Given the description of an element on the screen output the (x, y) to click on. 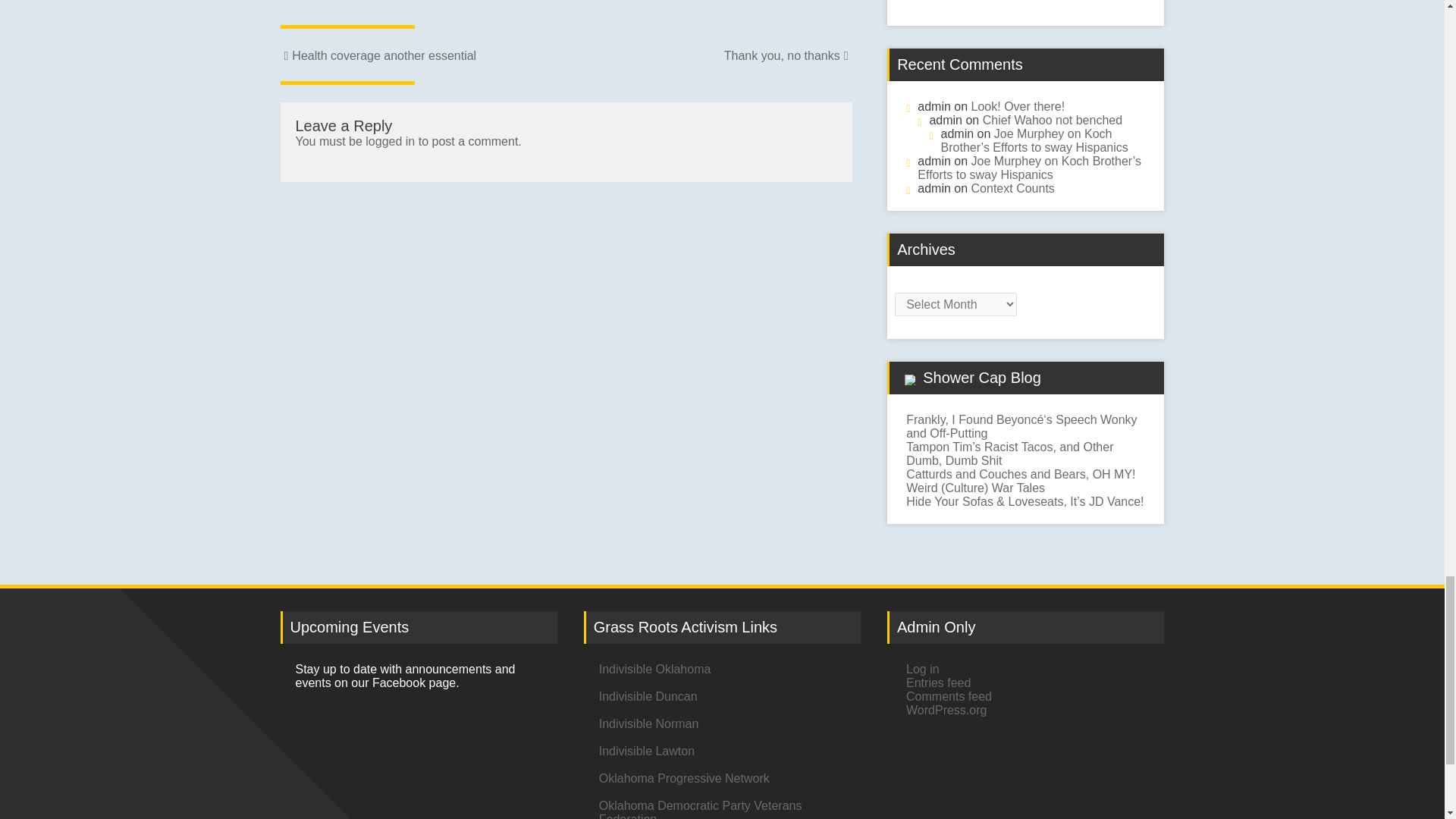
Thank you, no thanks (787, 55)
Health coverage another essential (379, 55)
logged in (389, 141)
